Given the description of an element on the screen output the (x, y) to click on. 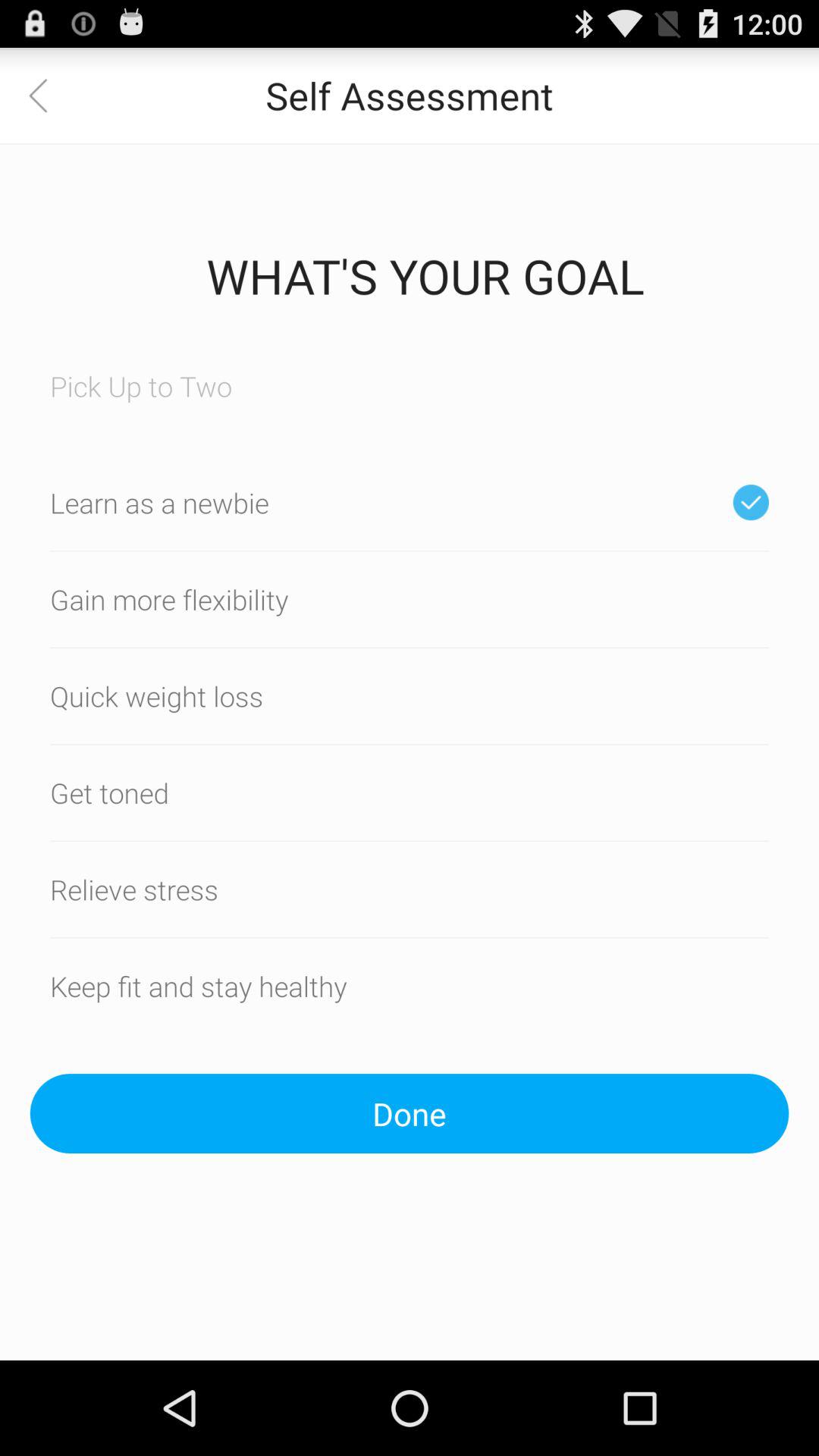
go back go to previous (47, 95)
